Given the description of an element on the screen output the (x, y) to click on. 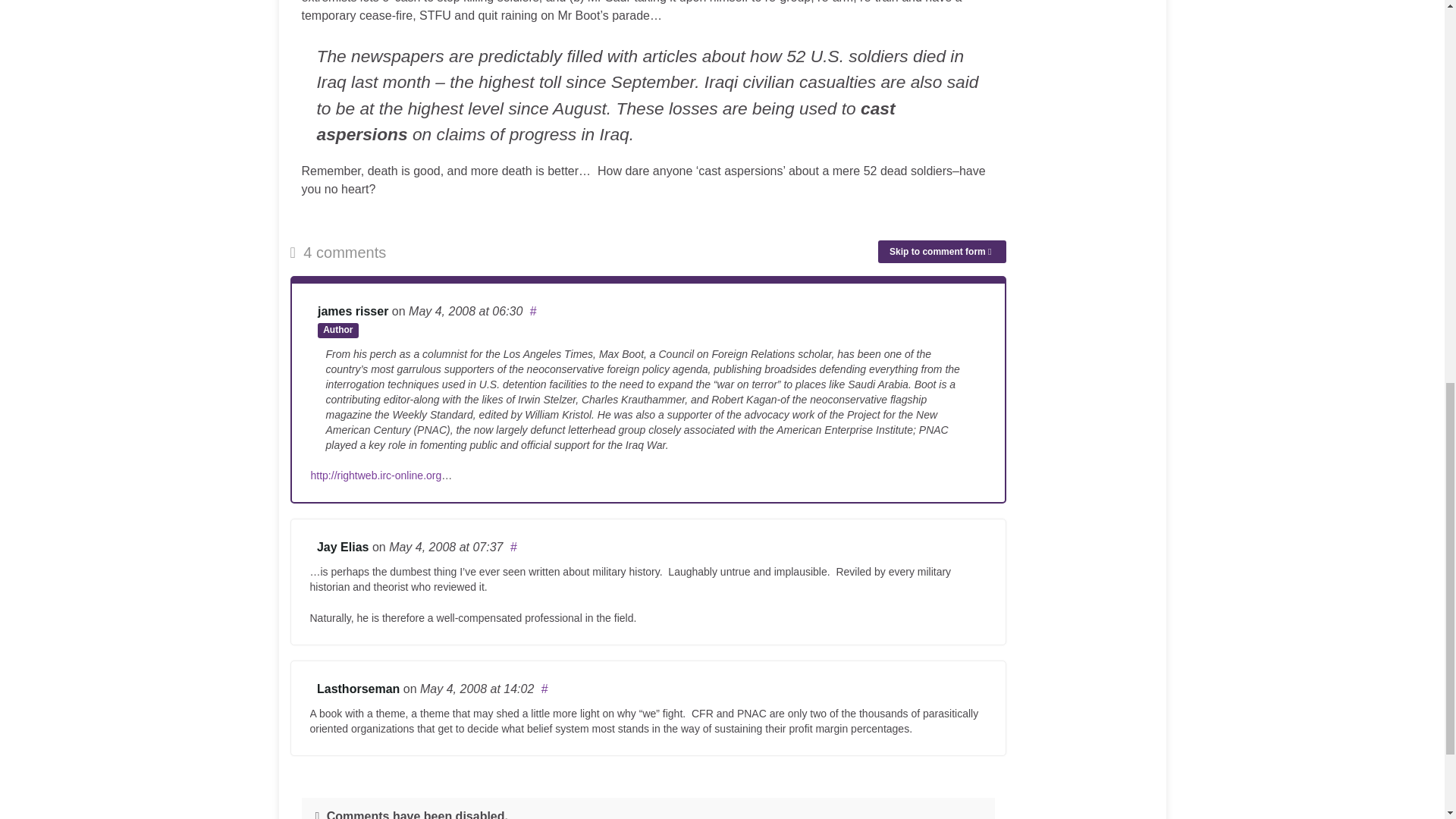
Lasthorseman (357, 688)
james risser (352, 310)
Skip to comment form (941, 251)
Jay Elias (343, 546)
